Given the description of an element on the screen output the (x, y) to click on. 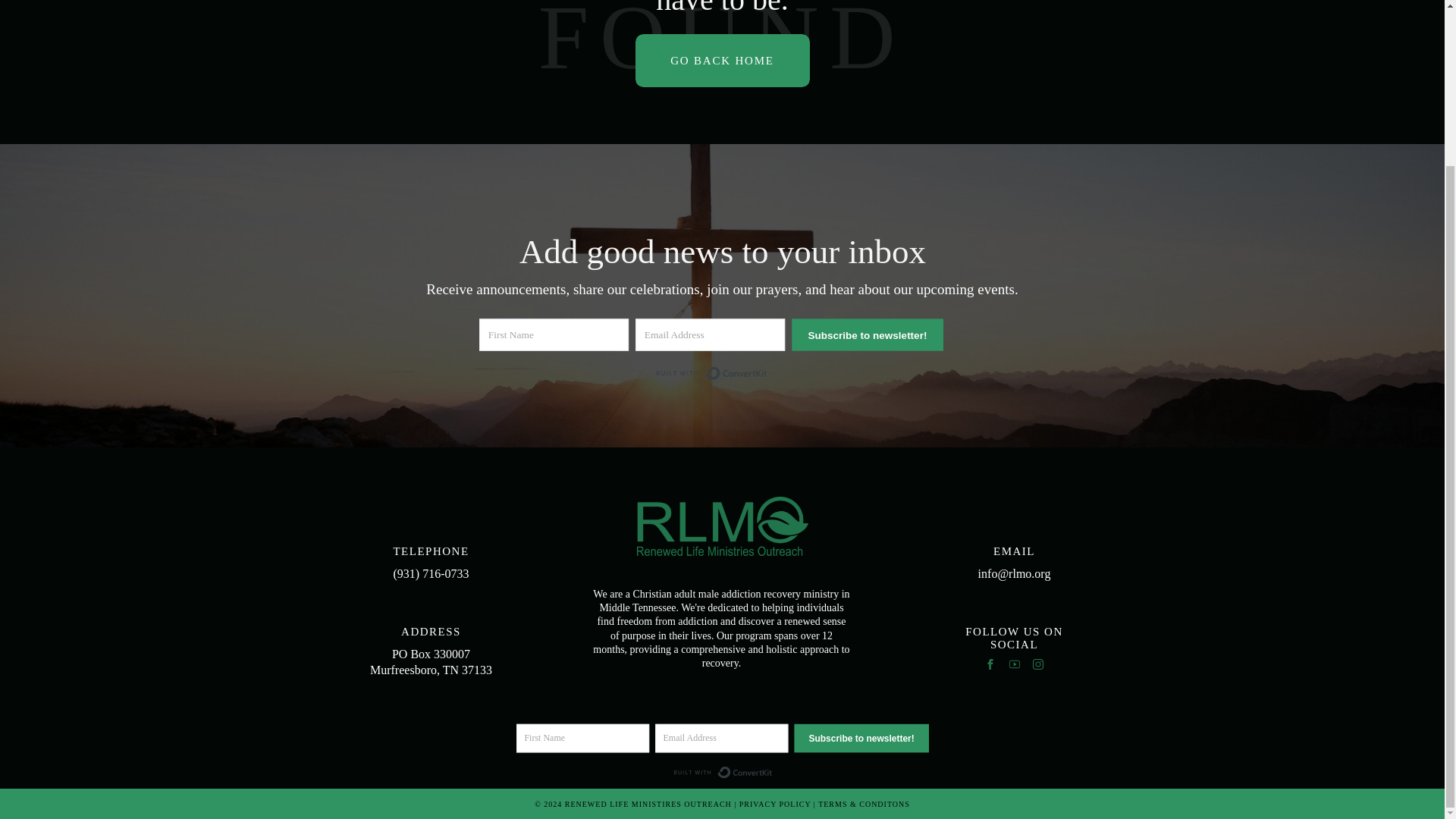
Built with ConvertKit (716, 374)
Subscribe to newsletter! (874, 335)
Subscribe to newsletter! (877, 741)
GO BACK HOME (722, 60)
Built with ConvertKit (734, 774)
